Given the description of an element on the screen output the (x, y) to click on. 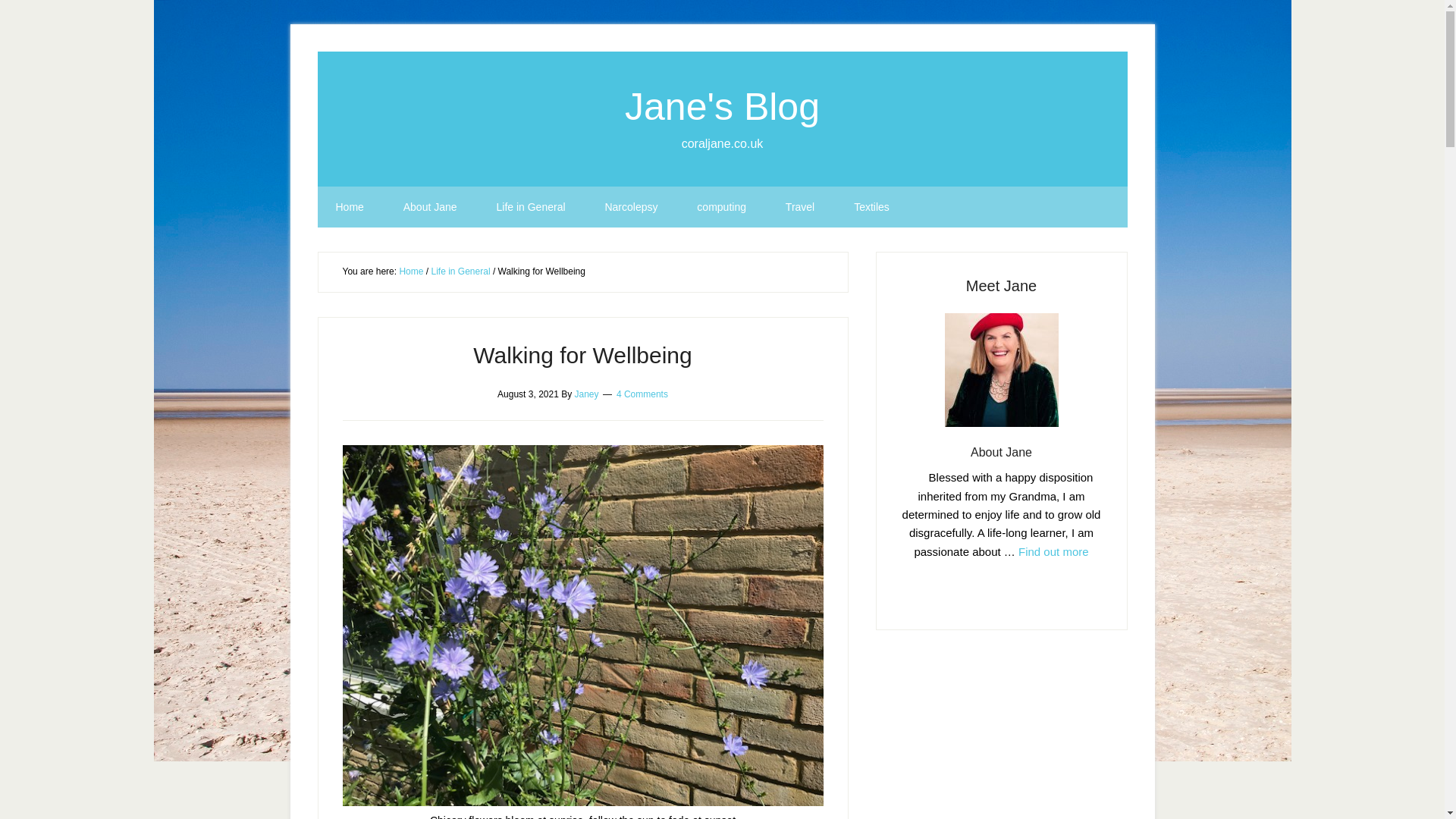
4 Comments (641, 393)
Life in General (459, 271)
Home (349, 206)
Narcolepsy (630, 206)
Textiles (871, 206)
About Jane (1001, 451)
Janey (586, 393)
Jane's Blog (721, 106)
Life in General (530, 206)
computing (721, 206)
